Given the description of an element on the screen output the (x, y) to click on. 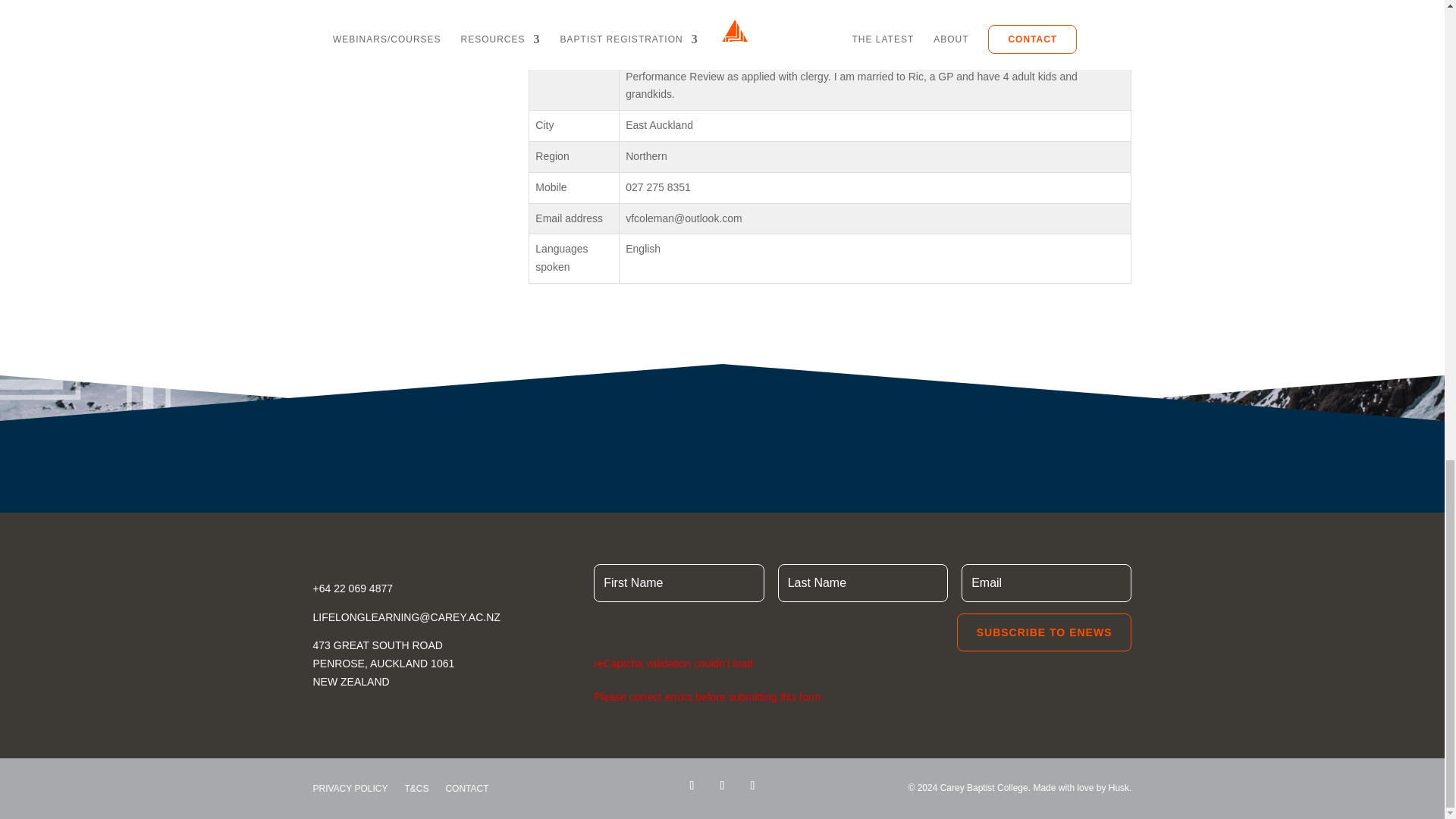
Subscribe to eNews (1044, 632)
Follow on Facebook (691, 785)
Follow on LinkedIn (751, 785)
Follow on Instagram (721, 785)
